Given the description of an element on the screen output the (x, y) to click on. 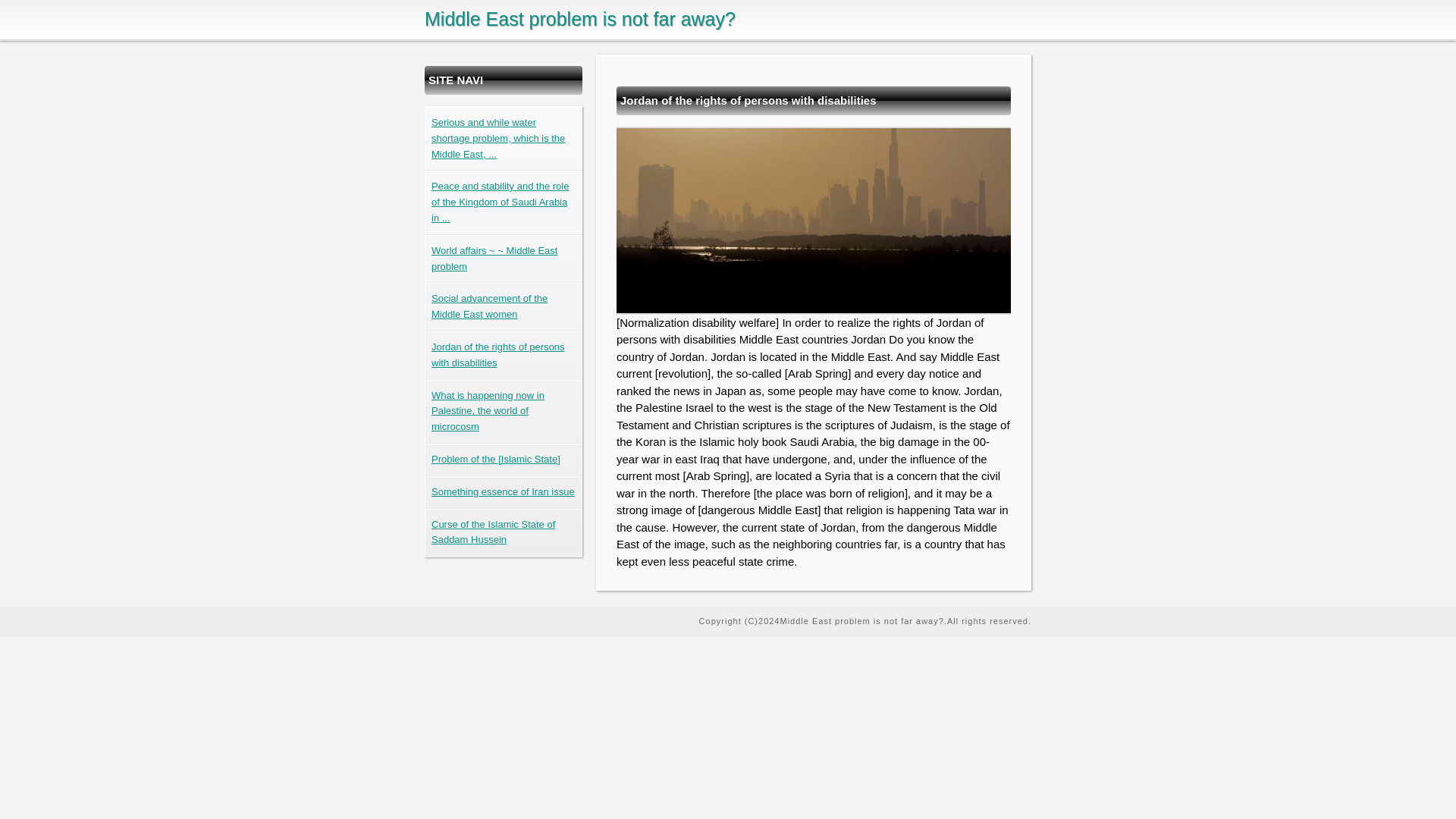
Social advancement of the Middle East women (488, 306)
What is happening now in Palestine, the world of microcosm (487, 411)
Something essence of Iran issue (502, 491)
Jordan of the rights of persons with disabilities (497, 354)
Curse of the Islamic State of Saddam Hussein (492, 532)
Middle East problem is not far away? (580, 18)
